Given the description of an element on the screen output the (x, y) to click on. 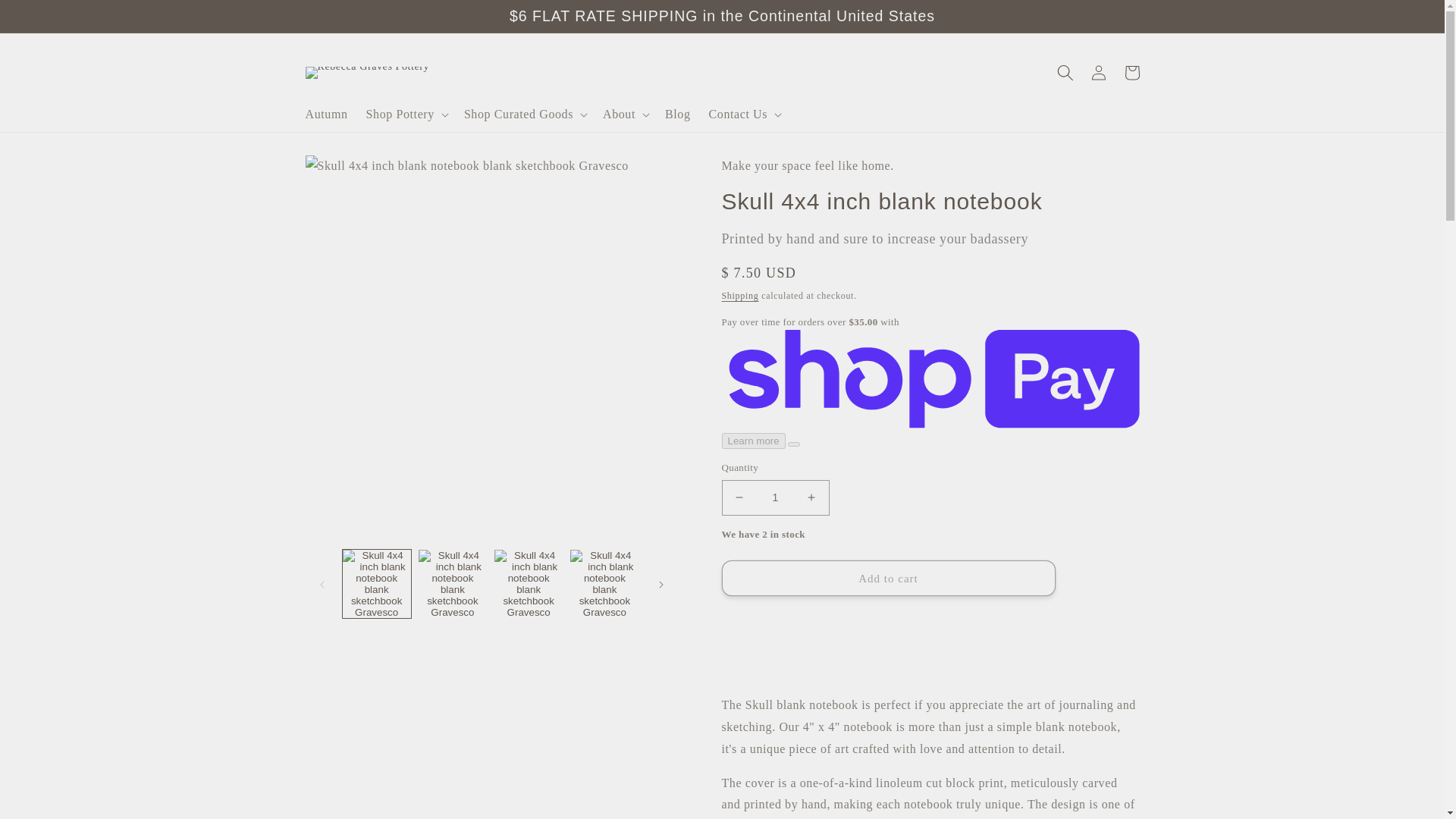
1 (775, 497)
Skip to content (45, 17)
